Given the description of an element on the screen output the (x, y) to click on. 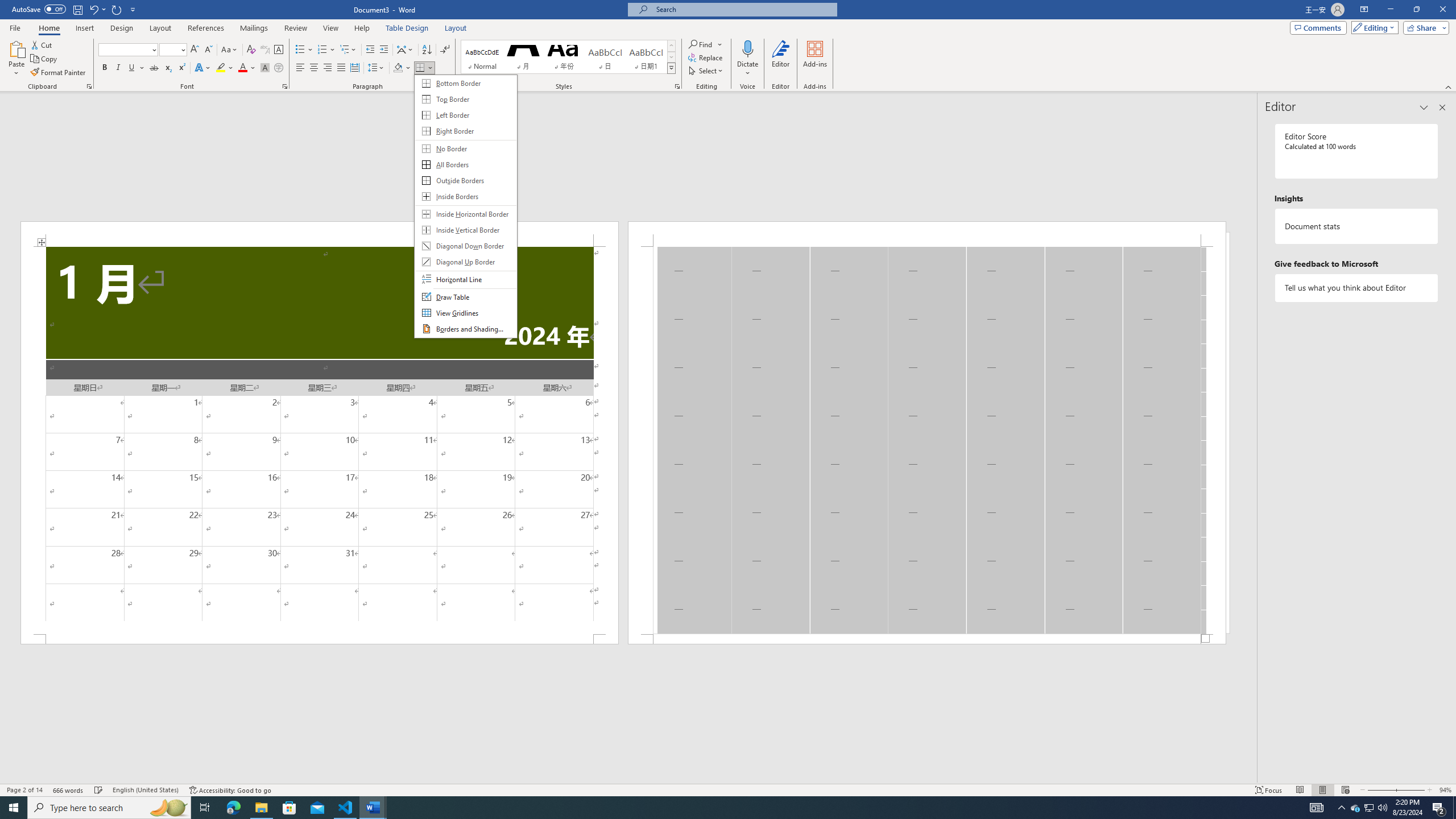
Page Number Page 2 of 14 (24, 790)
